Given the description of an element on the screen output the (x, y) to click on. 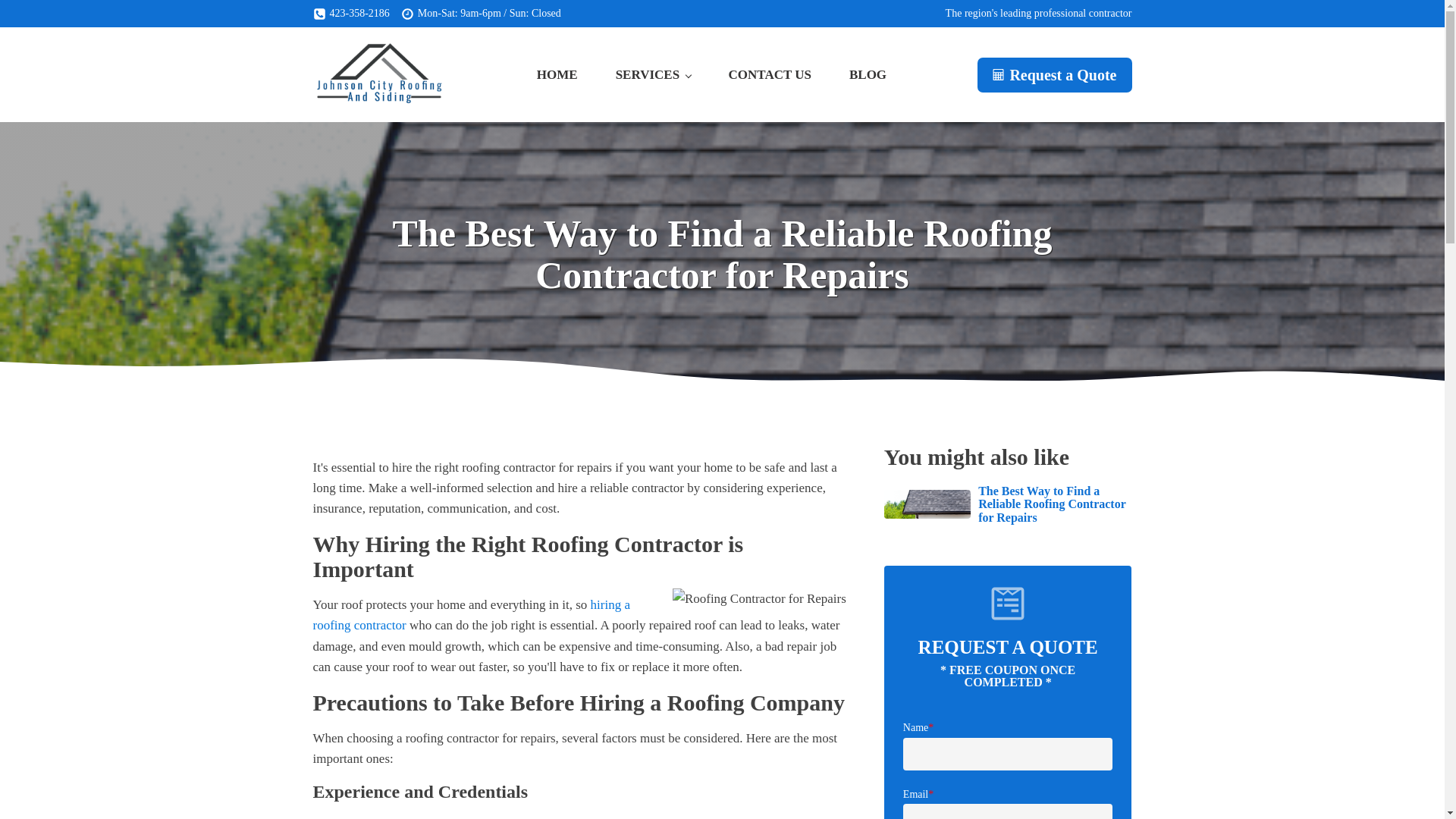
hiring a roofing contractor (471, 614)
CONTACT US (769, 74)
Request a Quote (1053, 74)
423-358-2186 (350, 13)
BLOG (867, 74)
HOME (557, 74)
SERVICES (653, 74)
